Given the description of an element on the screen output the (x, y) to click on. 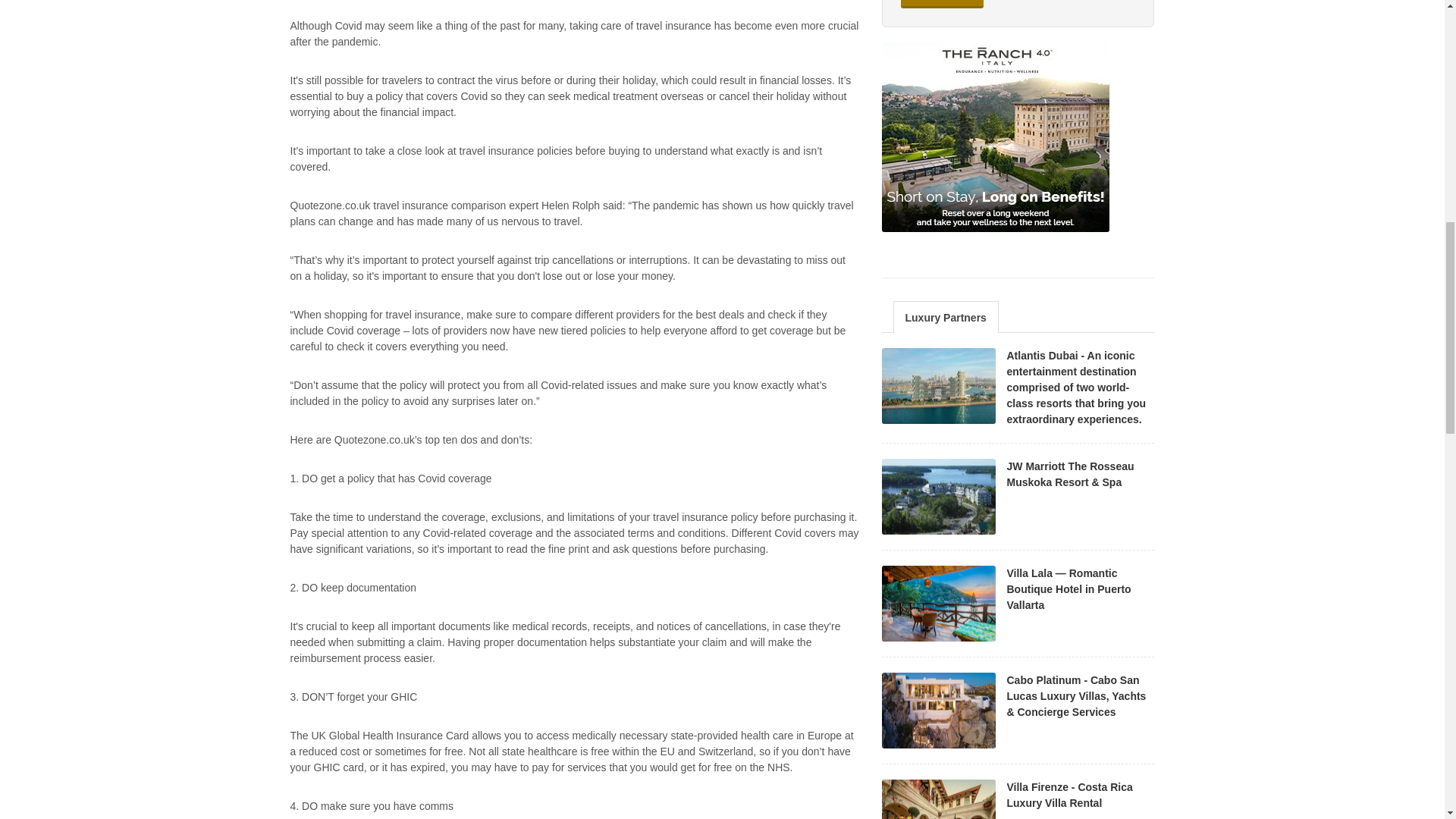
Search (942, 4)
